Given the description of an element on the screen output the (x, y) to click on. 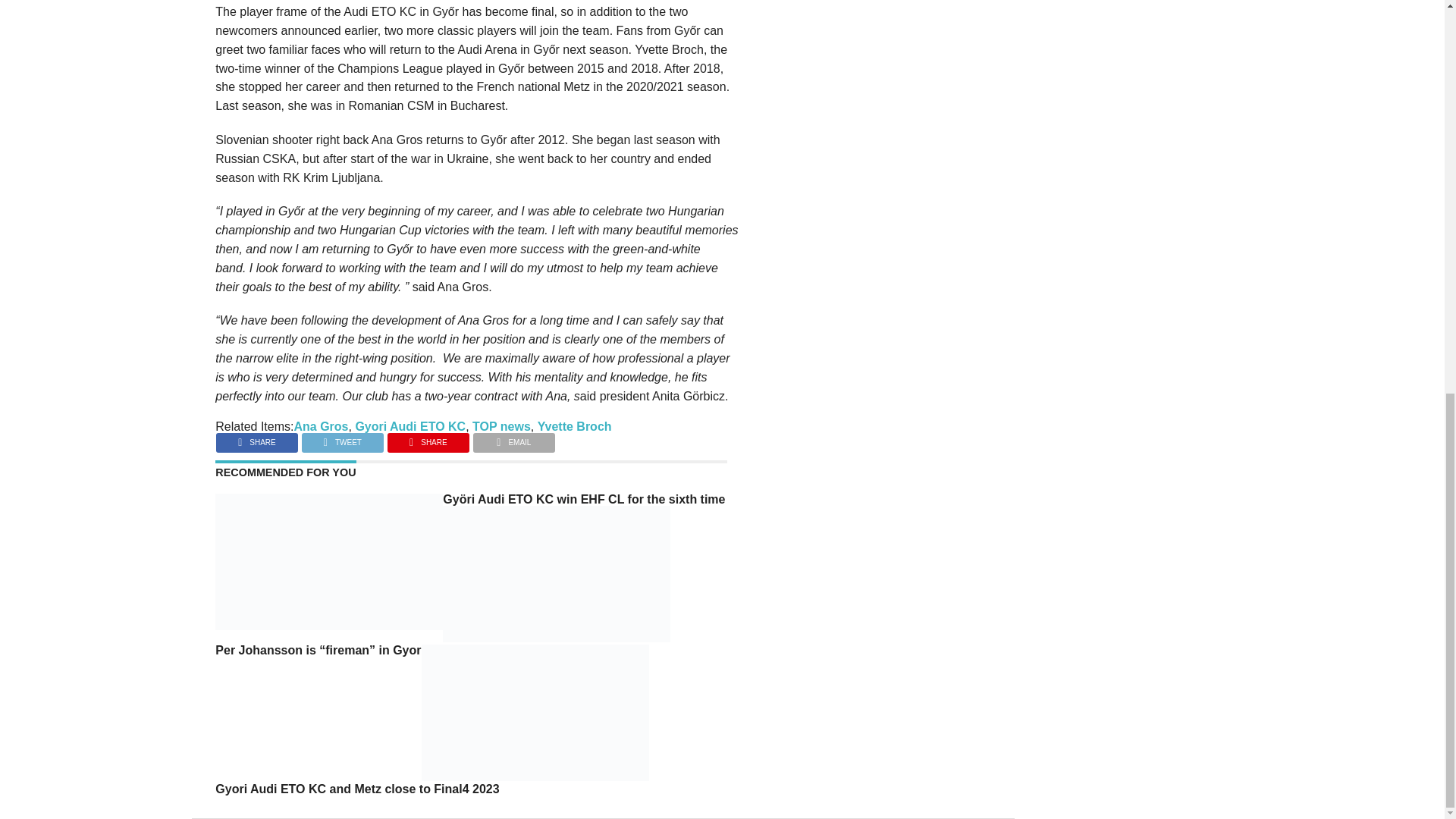
Gyori Audi ETO KC and Metz close to Final4 2023 (535, 776)
Pin This Post (427, 438)
Tweet This Post (342, 438)
Share on Facebook (256, 438)
